Given the description of an element on the screen output the (x, y) to click on. 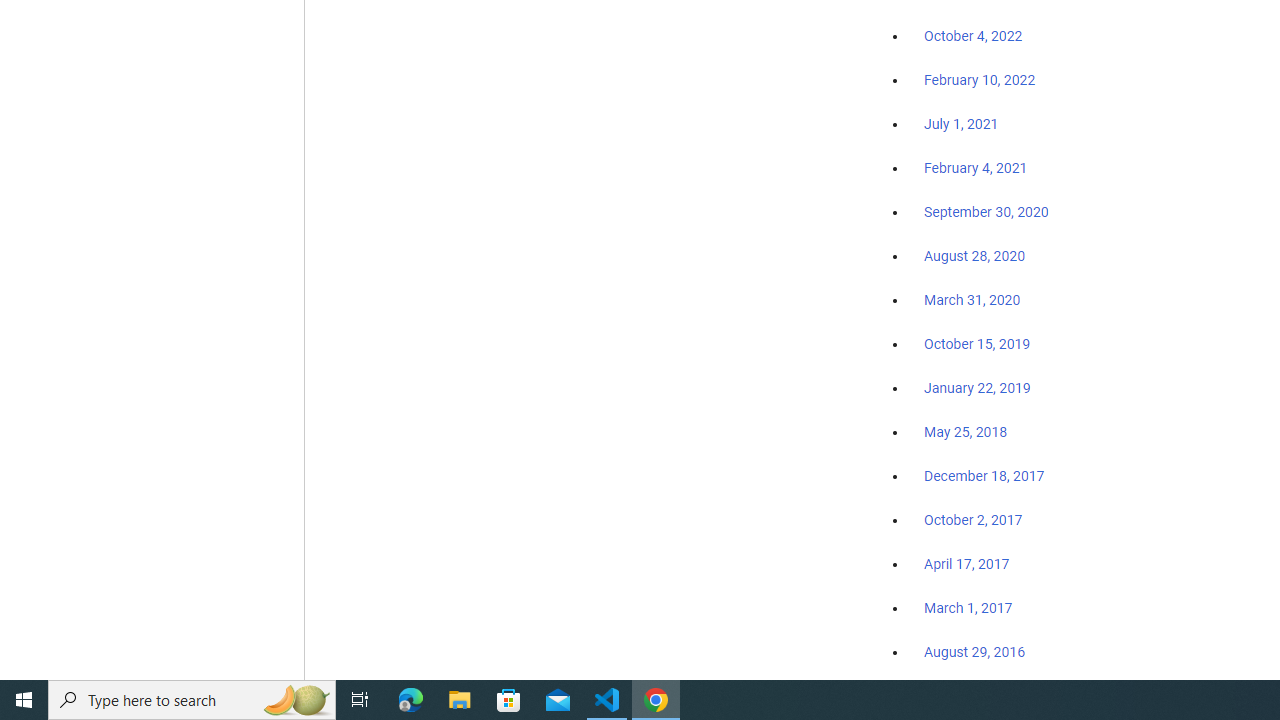
October 4, 2022 (973, 37)
March 1, 2017 (968, 608)
August 29, 2016 (974, 651)
March 31, 2020 (972, 299)
December 18, 2017 (984, 476)
August 28, 2020 (974, 255)
February 4, 2021 (975, 168)
April 17, 2017 (966, 564)
July 1, 2021 (961, 124)
October 15, 2019 (977, 343)
May 25, 2018 (966, 431)
February 10, 2022 (979, 81)
January 22, 2019 (977, 387)
October 2, 2017 (973, 520)
September 30, 2020 (986, 212)
